Given the description of an element on the screen output the (x, y) to click on. 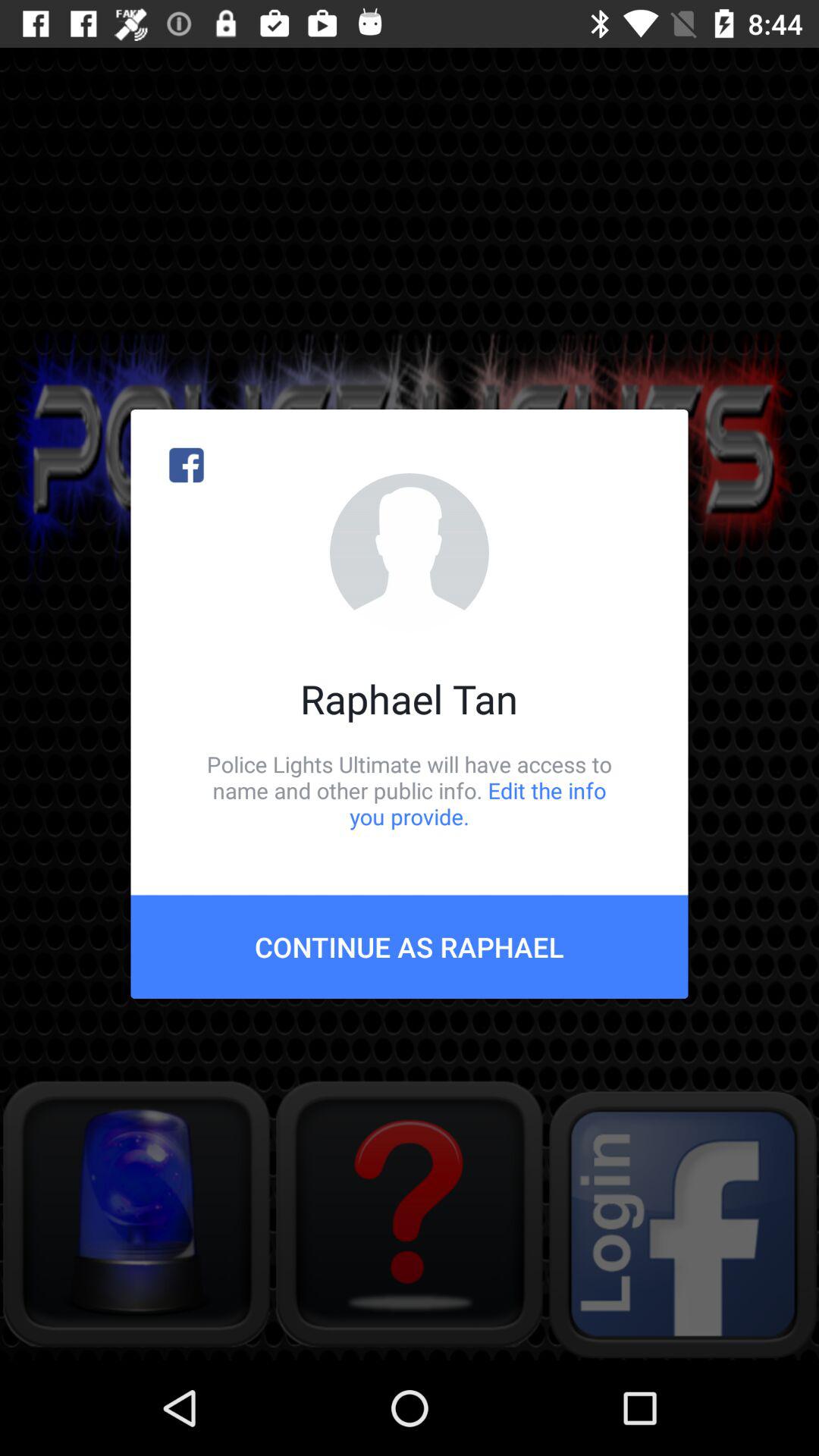
click the icon below raphael tan item (409, 790)
